Given the description of an element on the screen output the (x, y) to click on. 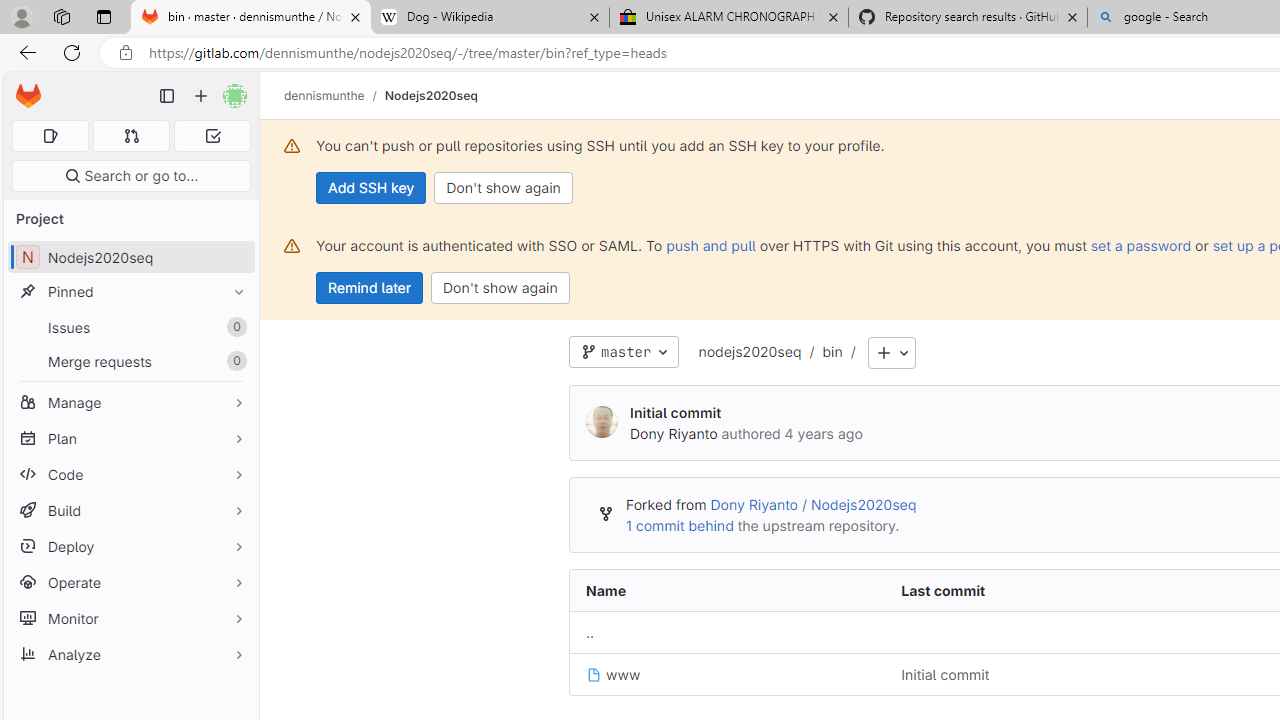
Dog - Wikipedia (490, 17)
Class: s16 gl-alert-icon gl-alert-icon-no-title (291, 246)
push and pull (710, 245)
www (613, 674)
Dony Riyanto (673, 433)
Initial commit (945, 674)
Dony Riyanto's avatar (602, 422)
Code (130, 474)
Merge requests 0 (131, 136)
Issues 0 (130, 327)
Add to tree (891, 353)
